Given the description of an element on the screen output the (x, y) to click on. 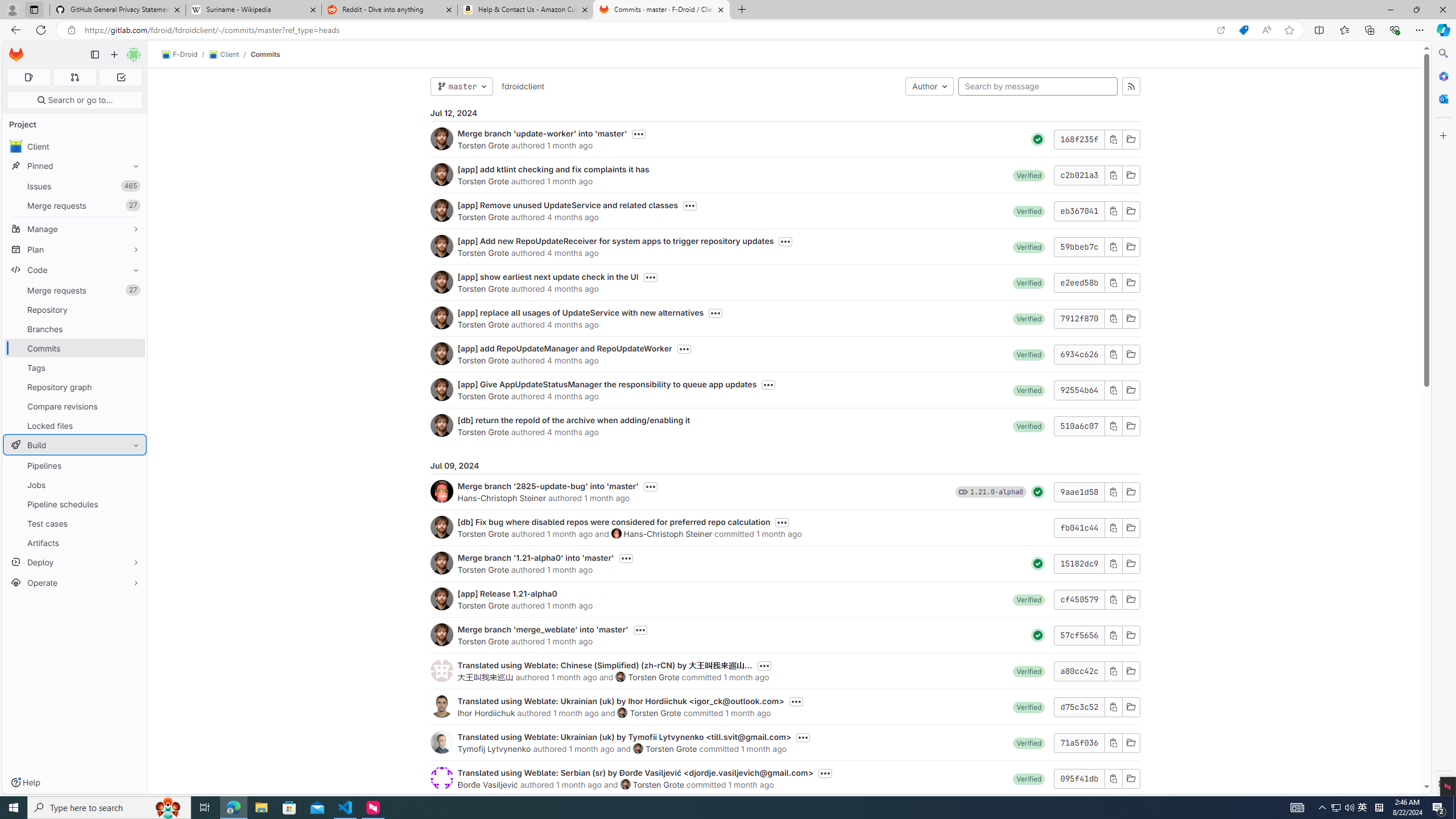
Ihor Hordiichuk (486, 712)
Tymofij Lytvynenko's avatar (440, 741)
Locked files (74, 425)
[app] Remove unused UpdateService and related classes (567, 204)
Ihor Hordiichuk's avatar (440, 706)
Pipeline: passed (1037, 635)
Repository (74, 309)
Plan (74, 248)
Assigned issues 0 (28, 76)
